Given the description of an element on the screen output the (x, y) to click on. 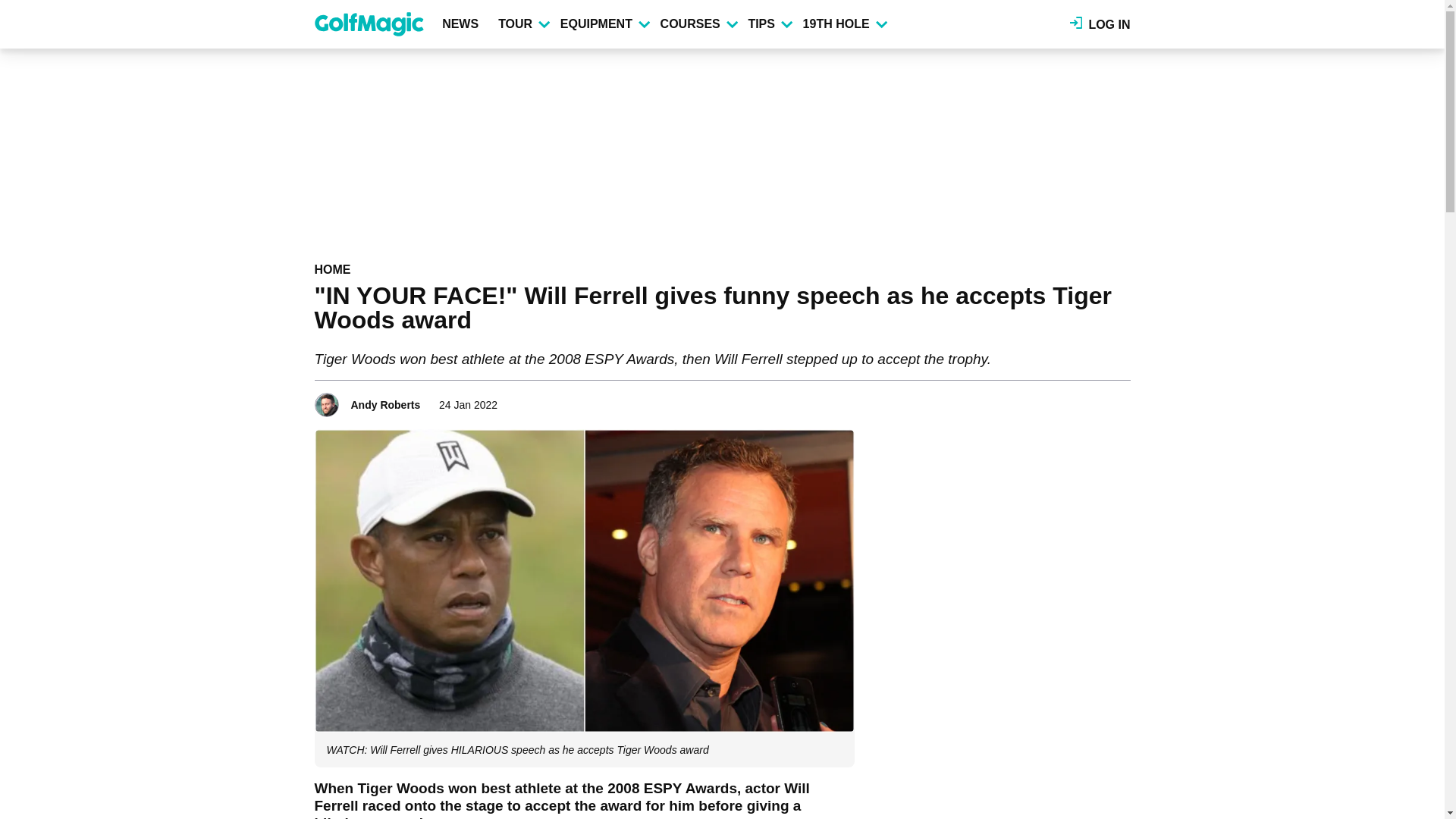
LOG IN (1100, 24)
EQUIPMENT (603, 24)
NEWS (463, 24)
Share to Facebook (1055, 400)
Share to Linkedin (1097, 400)
TOUR (523, 24)
Share to Email (1119, 400)
Share to X (1076, 400)
